Given the description of an element on the screen output the (x, y) to click on. 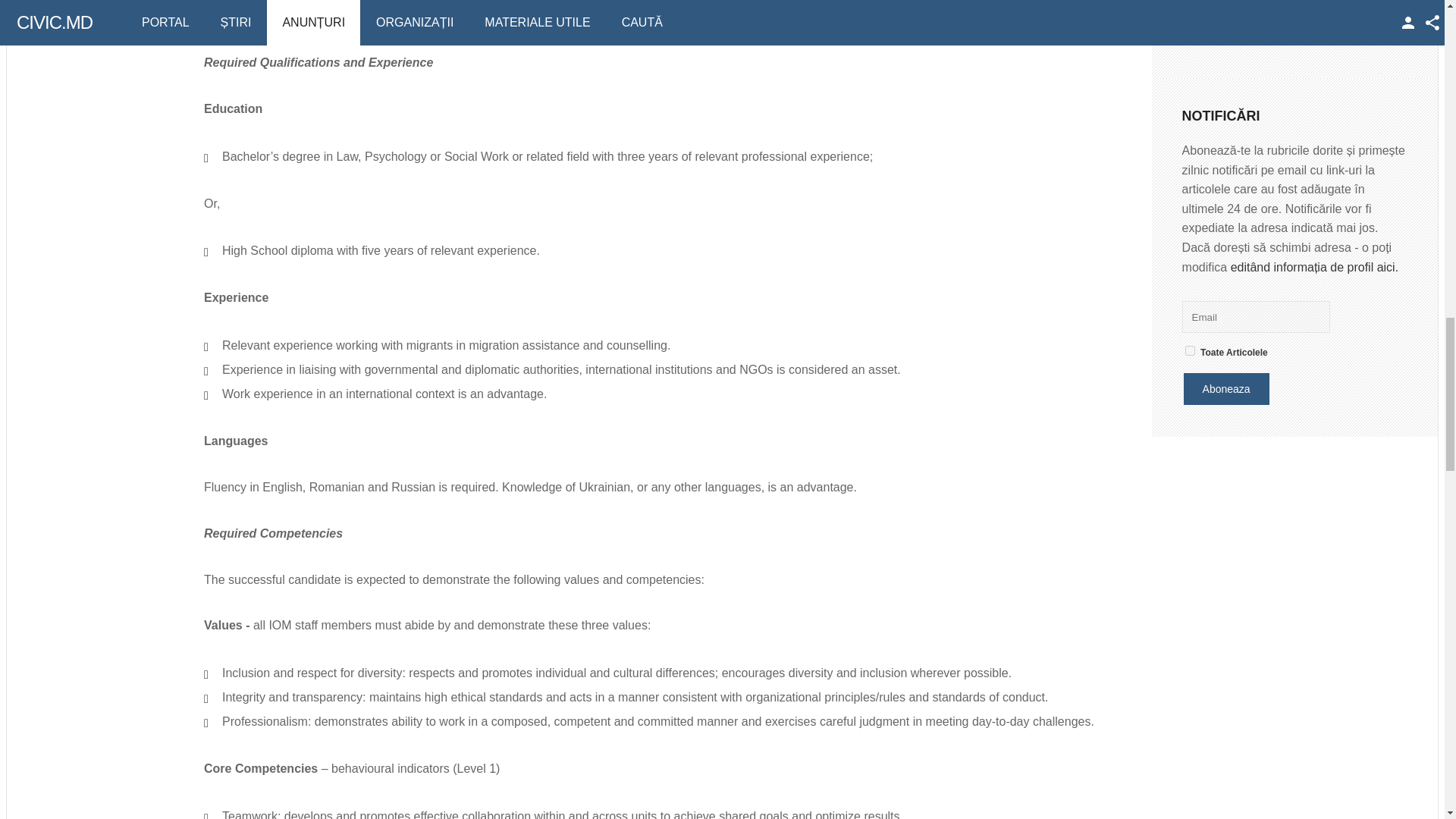
18 (1190, 350)
Aboneaza (1226, 388)
